Given the description of an element on the screen output the (x, y) to click on. 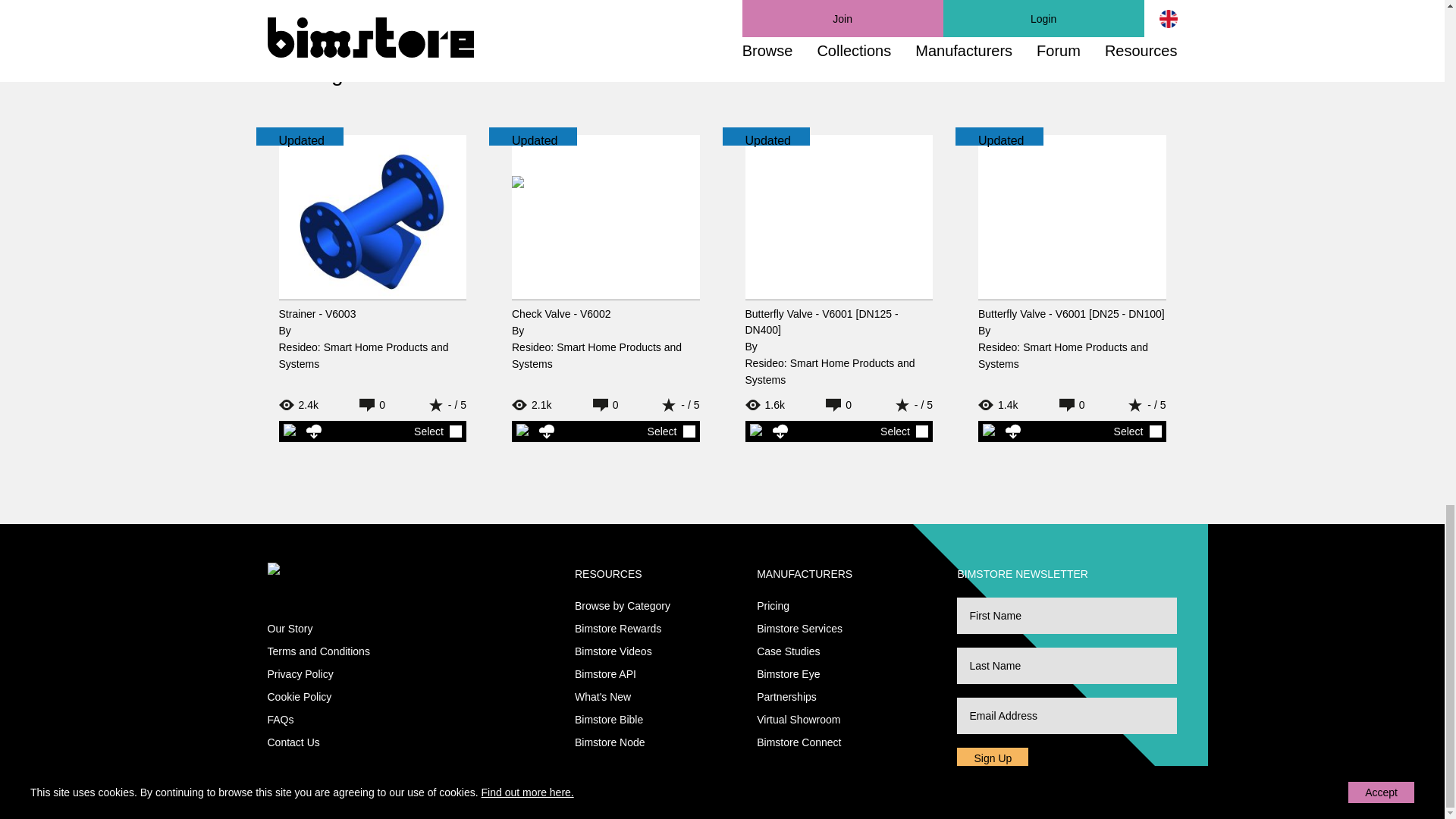
Views: 2352 (309, 404)
Views: 1562 (775, 404)
Comments: 0 (371, 404)
Views: 2073 (542, 404)
Views: 1443 (1009, 404)
Comments: 0 (838, 404)
Comments: 0 (604, 404)
